Given the description of an element on the screen output the (x, y) to click on. 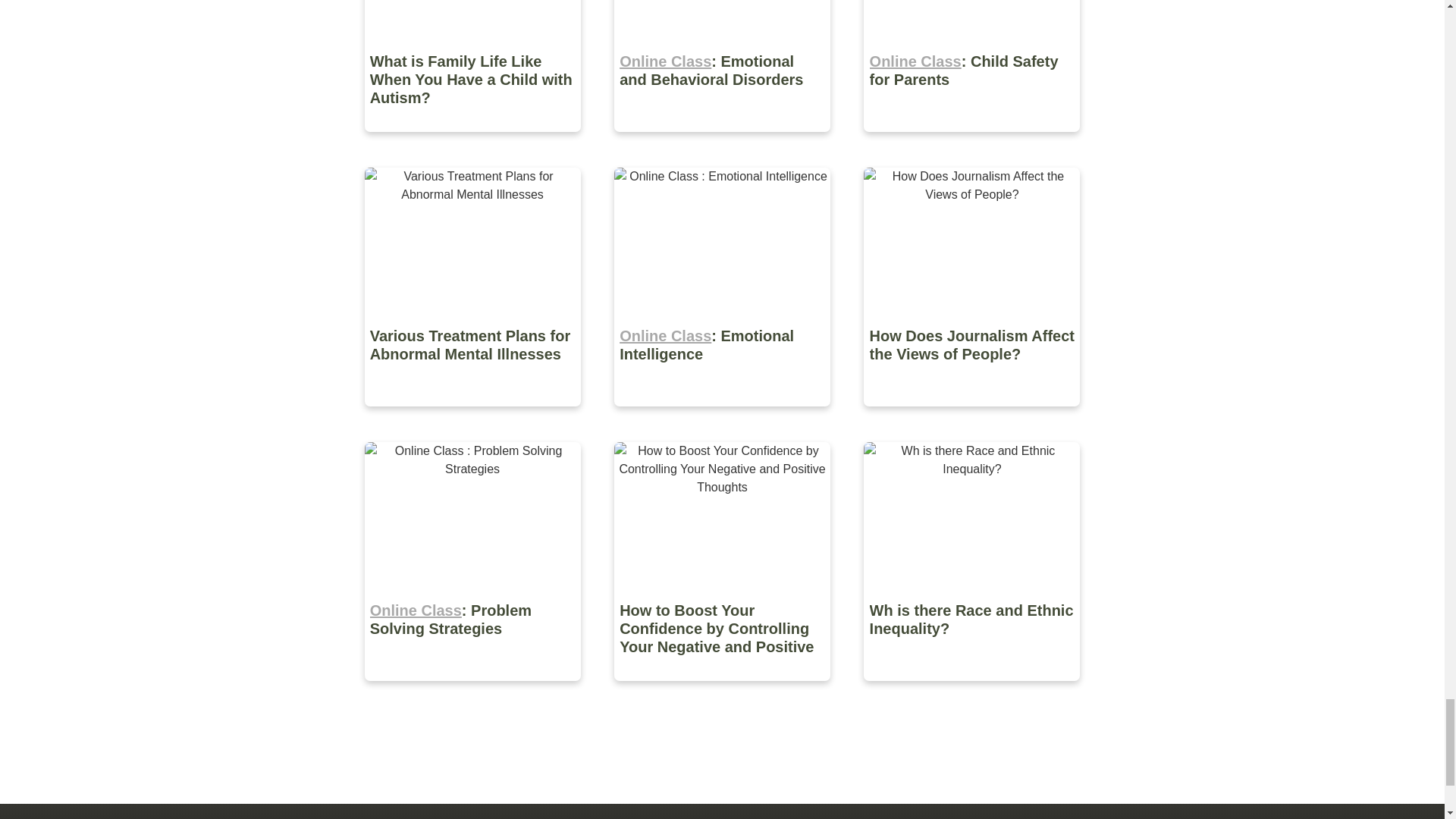
Online Class: Emotional Intelligence (723, 417)
Various Treatment Plans for Abnormal Mental Illnesses (473, 417)
Online Class: Child Safety for Parents (971, 142)
How Does Journalism Affect the Views of People? (971, 417)
Wh is there Race and Ethnic Inequality? (971, 691)
What is Family Life Like When You Have a Child with Autism? (473, 142)
Online Class: Problem Solving Strategies (473, 691)
Online Class: Emotional and Behavioral Disorders (723, 142)
